Given the description of an element on the screen output the (x, y) to click on. 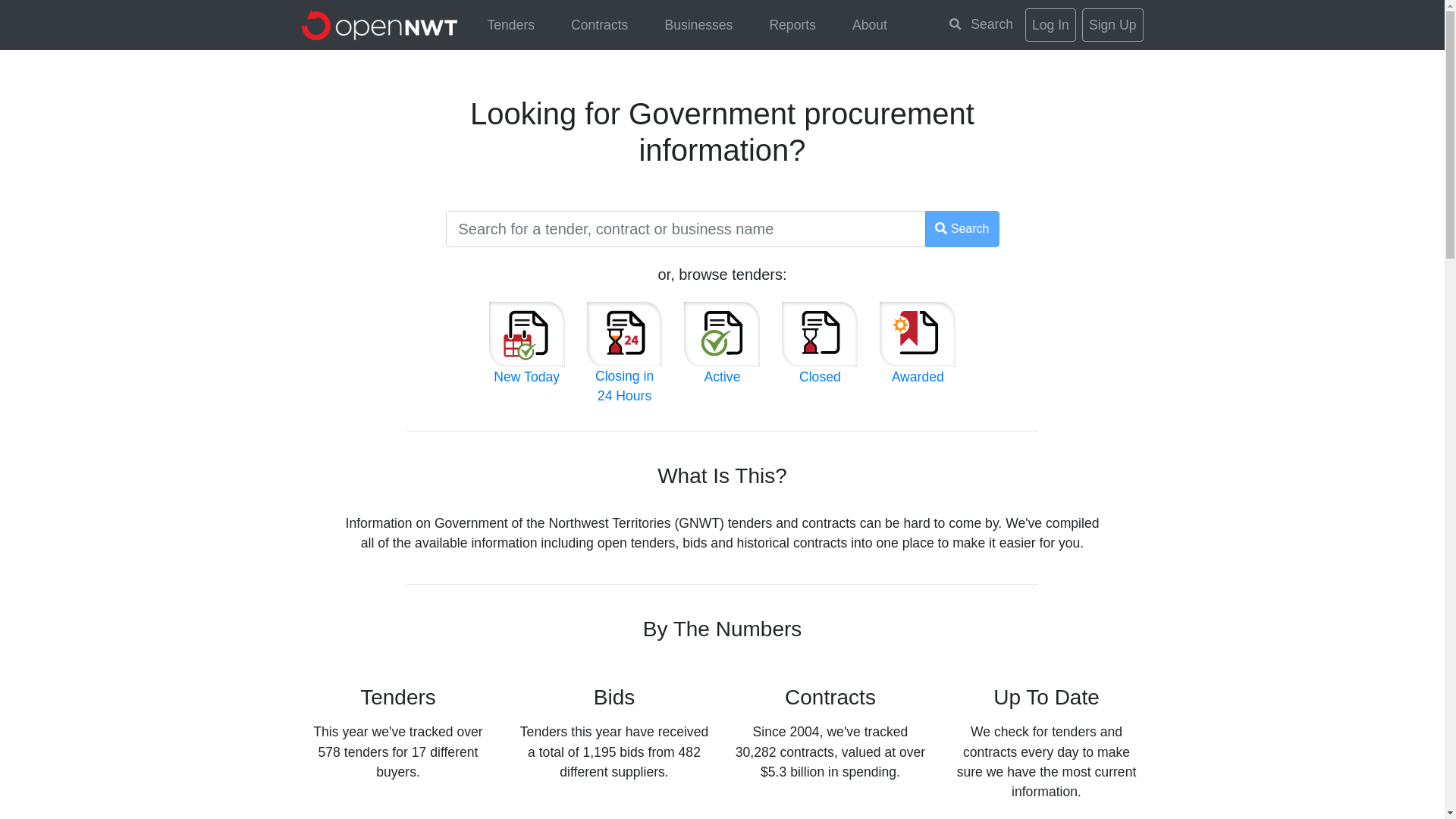
Contracts (599, 24)
Log In (1050, 24)
Active (722, 356)
Search (961, 228)
Closing in 24 Hours (624, 365)
New Today (526, 356)
Closed (819, 356)
Sign Up (1111, 24)
Awarded (917, 356)
About (869, 24)
Tenders (510, 24)
Search (961, 228)
Reports (792, 24)
Search (981, 24)
Businesses (698, 24)
